Given the description of an element on the screen output the (x, y) to click on. 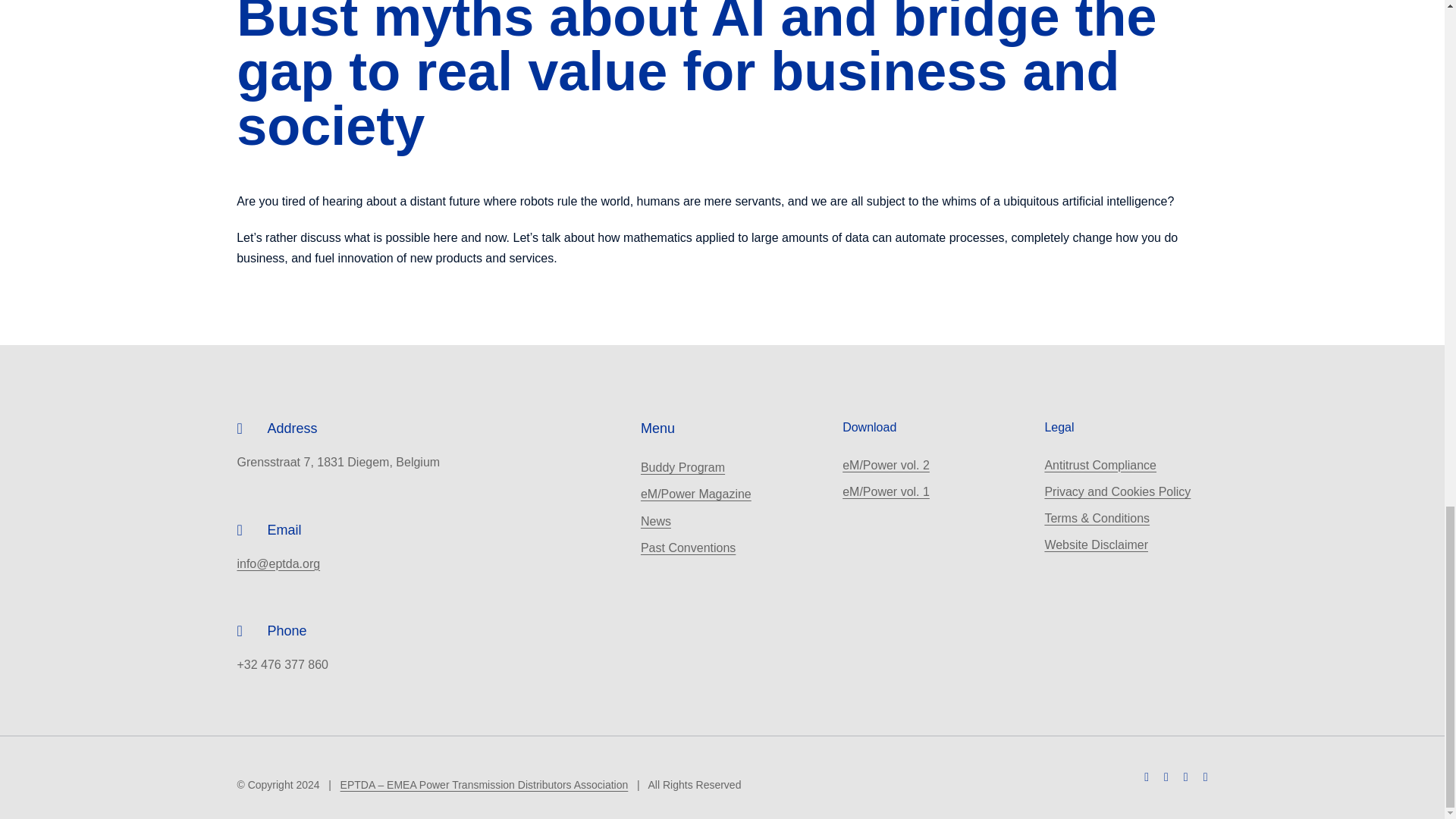
Privacy and Cookies Policy (1117, 491)
Buddy Program (682, 467)
News (655, 521)
Antitrust Compliance (1099, 464)
Past Conventions (687, 547)
Website Disclaimer (1095, 544)
